Given the description of an element on the screen output the (x, y) to click on. 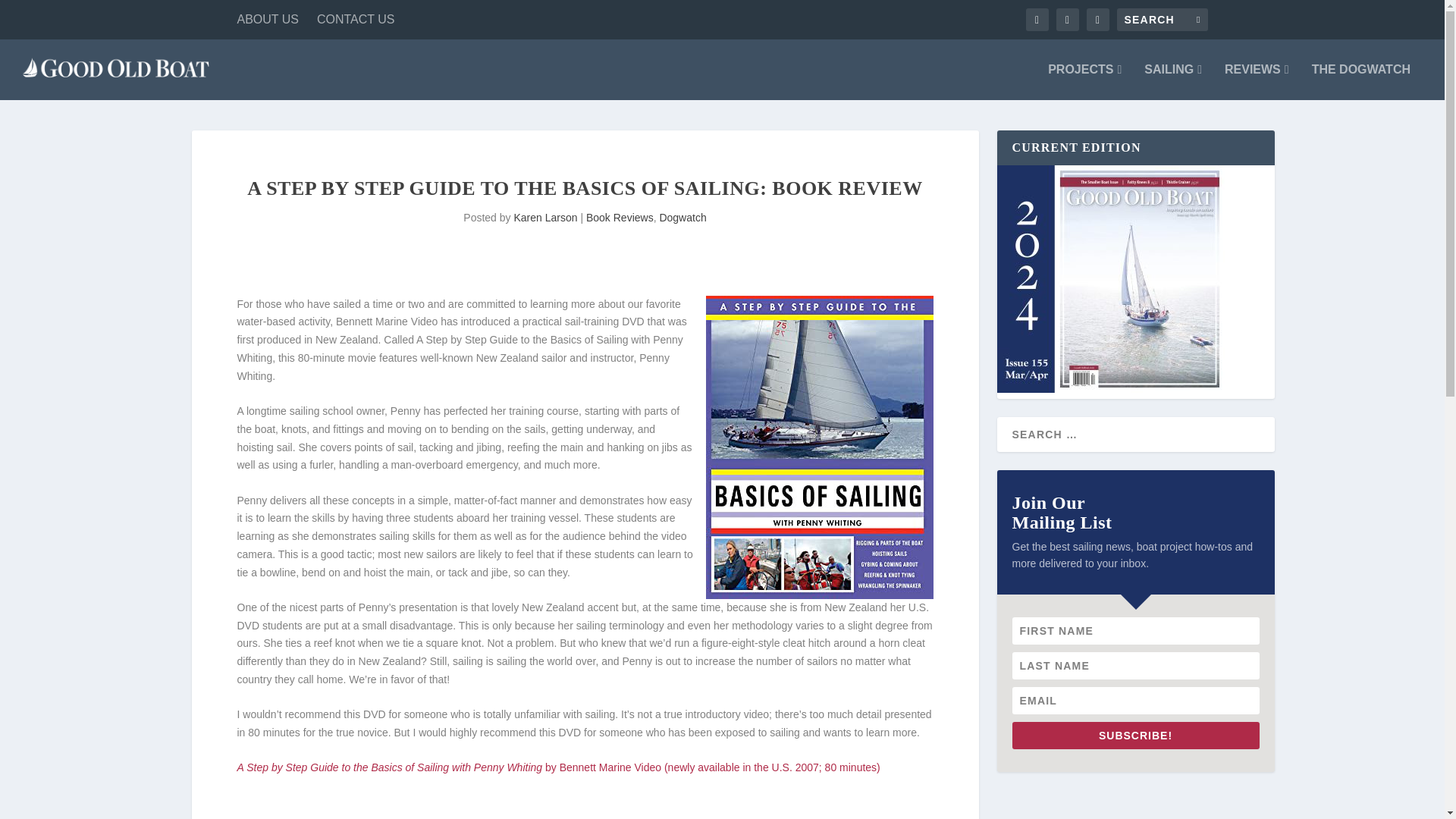
REVIEWS (1256, 81)
PROJECTS (1084, 81)
THE DOGWATCH (1360, 81)
Posts by Karen Larson (544, 217)
CONTACT US (355, 19)
ABOUT US (266, 19)
SAILING (1173, 81)
Search for: (1161, 19)
